Given the description of an element on the screen output the (x, y) to click on. 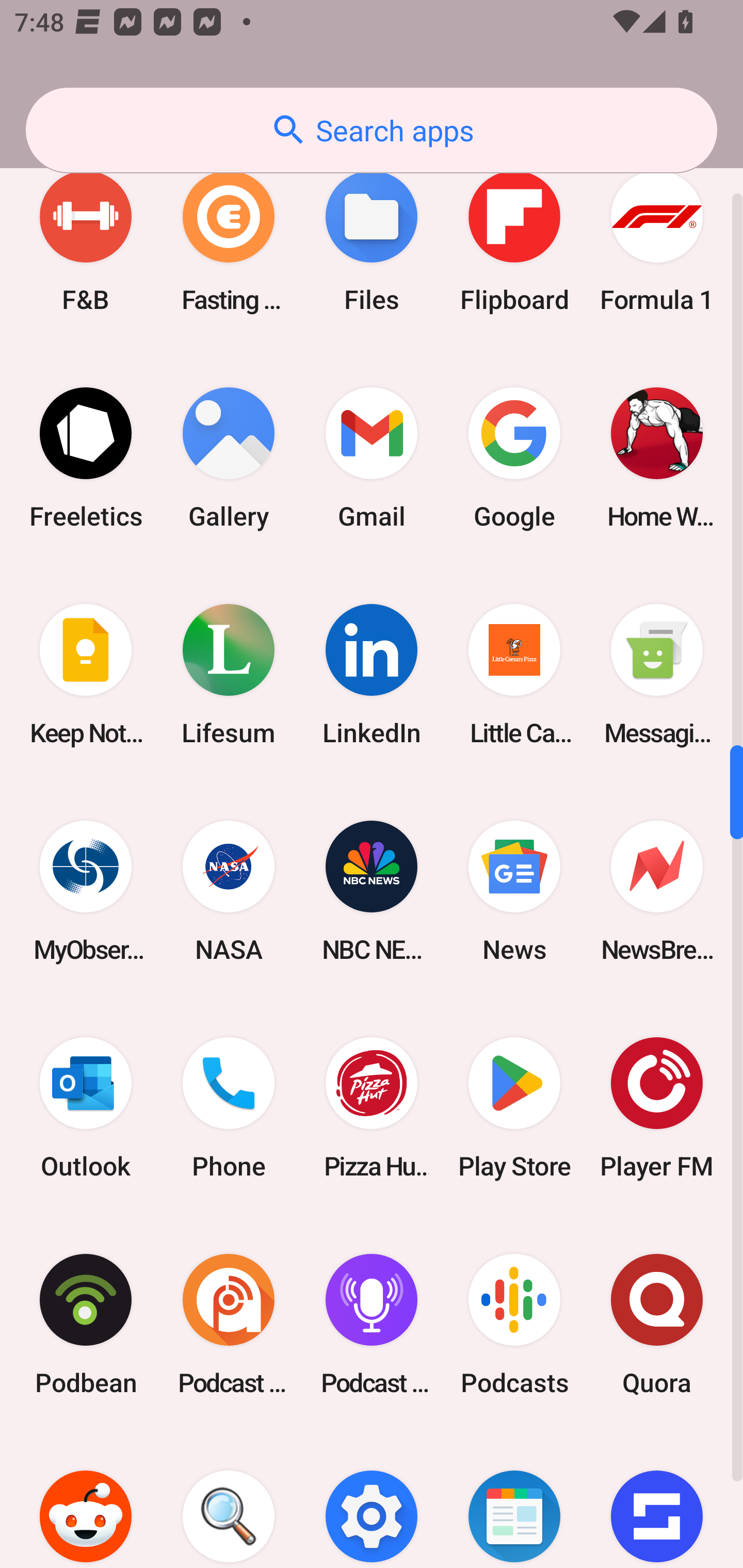
  Search apps (371, 130)
F&B (85, 241)
Fasting Coach (228, 241)
Files (371, 241)
Flipboard (514, 241)
Formula 1 (656, 241)
Freeletics (85, 457)
Gallery (228, 457)
Gmail (371, 457)
Google (514, 457)
Home Workout (656, 457)
Keep Notes (85, 674)
Lifesum (228, 674)
LinkedIn (371, 674)
Little Caesars Pizza (514, 674)
Messaging (656, 674)
MyObservatory (85, 891)
NASA (228, 891)
NBC NEWS (371, 891)
News (514, 891)
NewsBreak (656, 891)
Outlook (85, 1108)
Phone (228, 1108)
Pizza Hut HK & Macau (371, 1108)
Play Store (514, 1108)
Player FM (656, 1108)
Podbean (85, 1324)
Podcast Addict (228, 1324)
Podcast Player (371, 1324)
Podcasts (514, 1324)
Quora (656, 1324)
Reddit (85, 1500)
Search (228, 1500)
Settings (371, 1500)
SmartNews (514, 1500)
Sofascore (656, 1500)
